Given the description of an element on the screen output the (x, y) to click on. 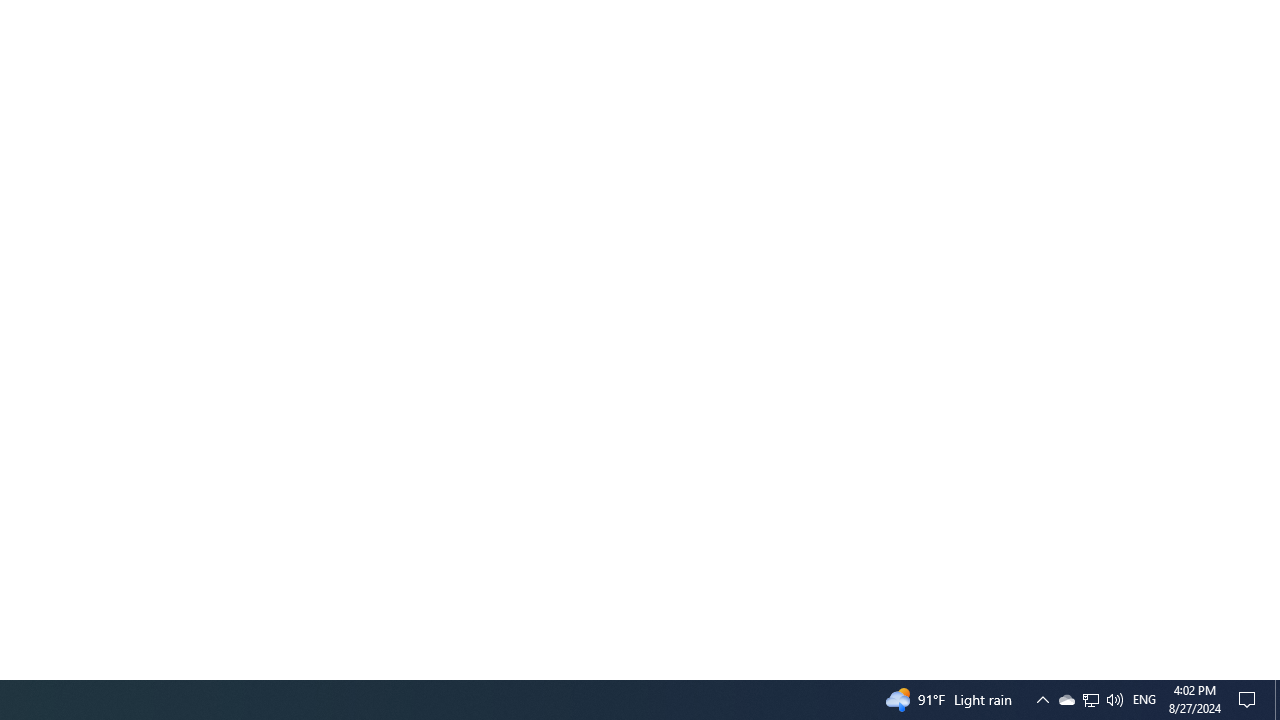
Tray Input Indicator - English (United States) (1144, 699)
